Given the description of an element on the screen output the (x, y) to click on. 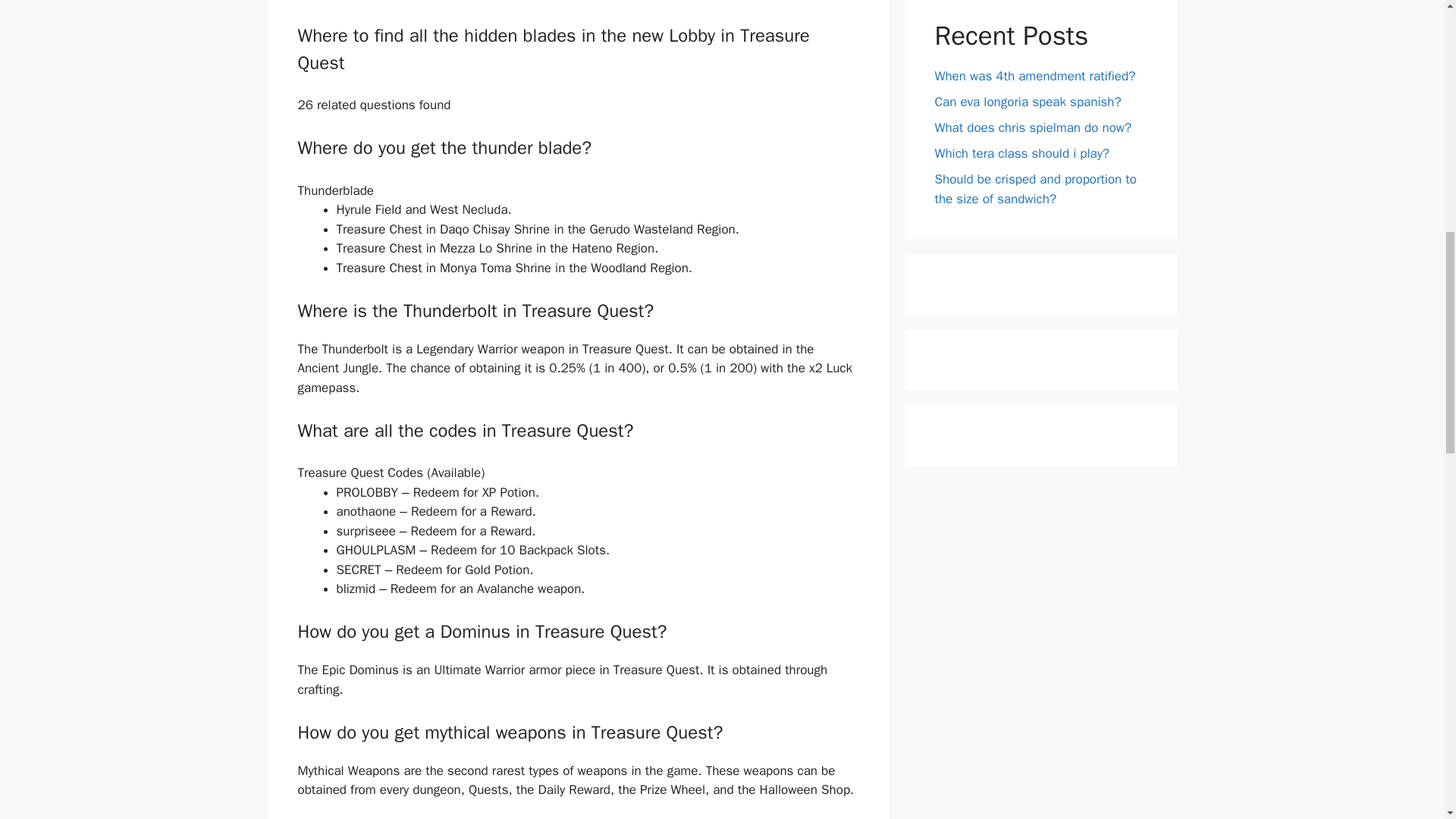
What does chris spielman do now? (1032, 127)
When was 4th amendment ratified? (1034, 75)
Which tera class should i play? (1021, 153)
Can eva longoria speak spanish? (1027, 101)
Should be crisped and proportion to the size of sandwich? (1034, 189)
